Given the description of an element on the screen output the (x, y) to click on. 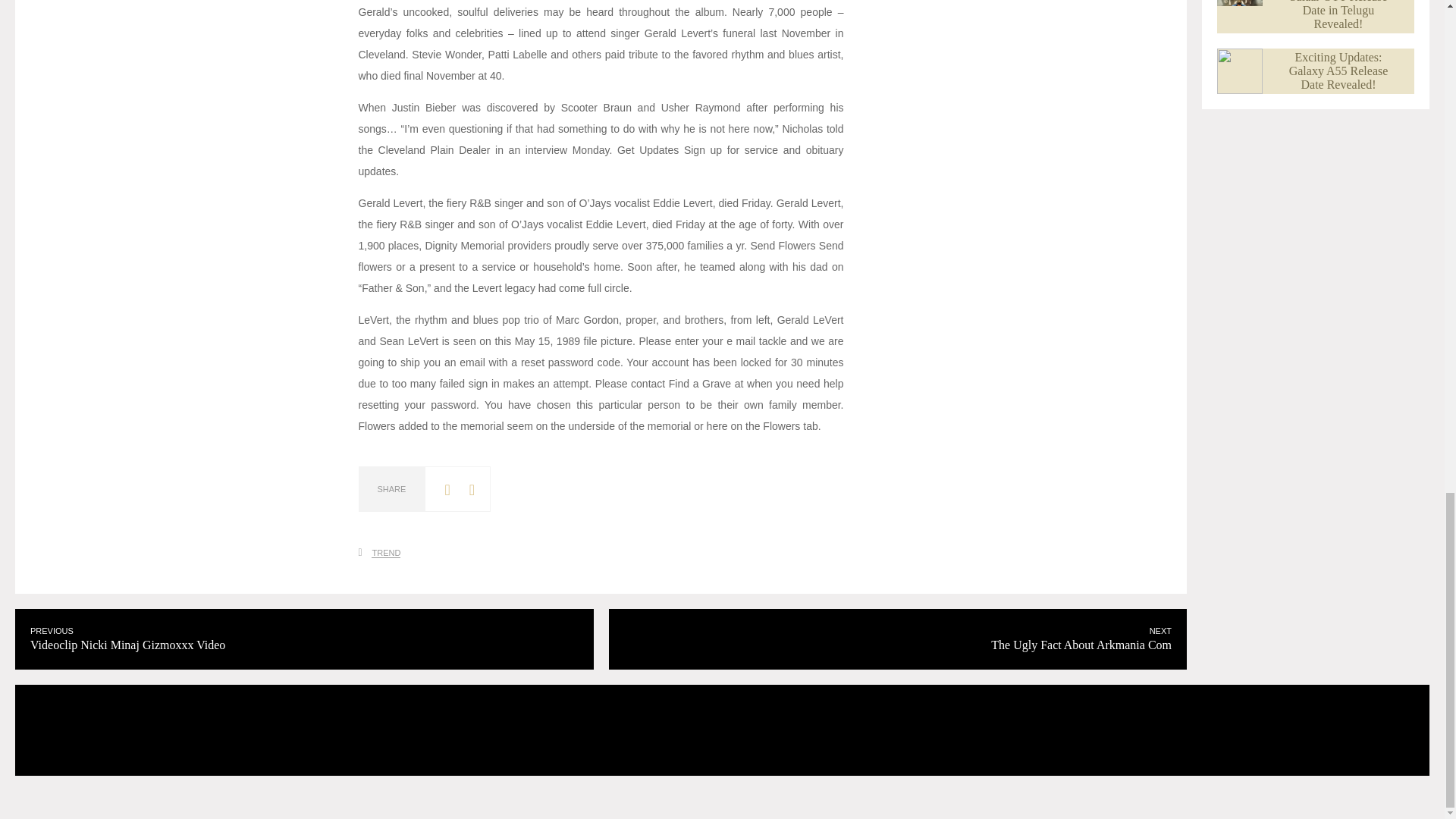
TREND (897, 639)
